Given the description of an element on the screen output the (x, y) to click on. 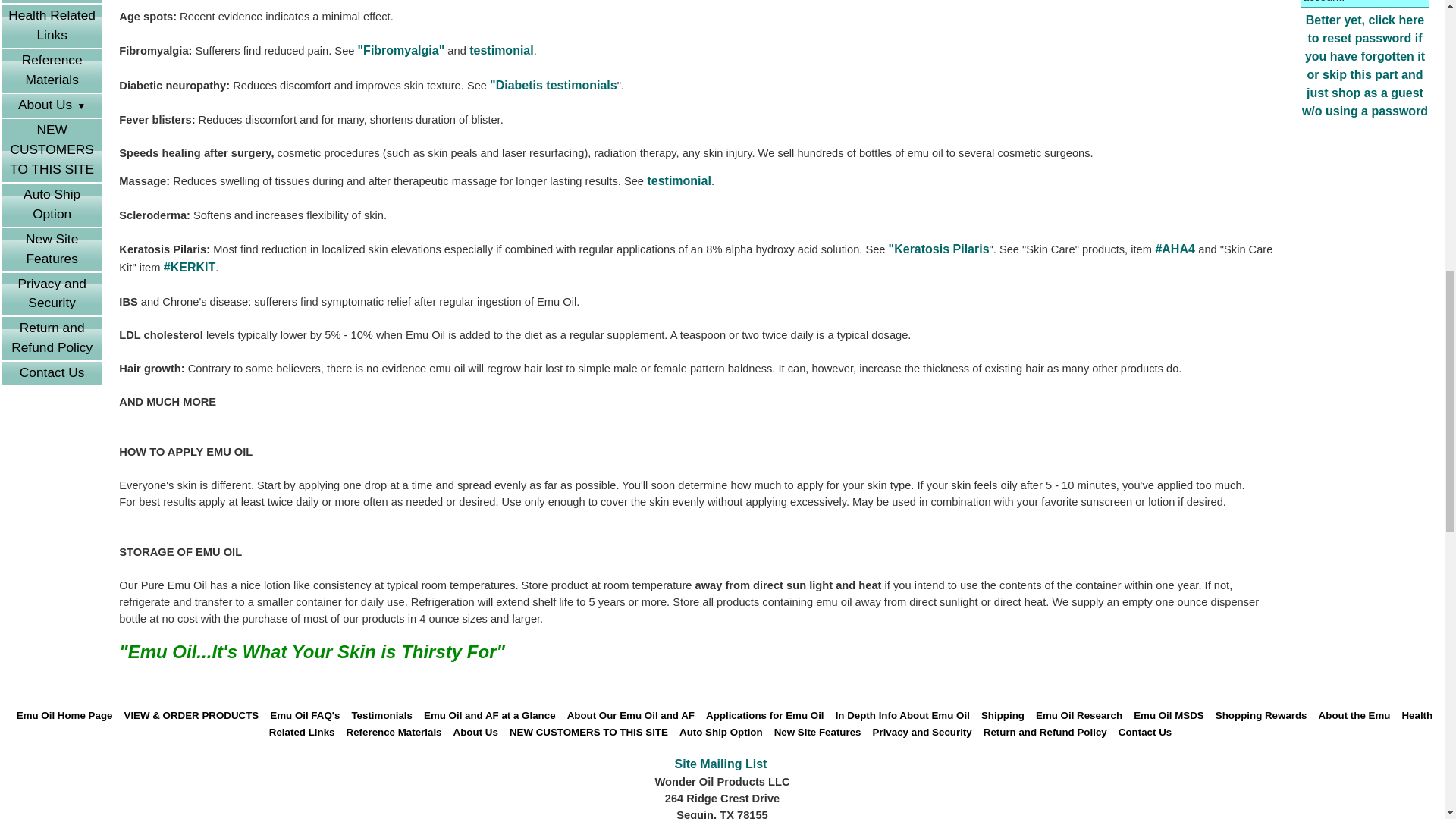
Contact Us (51, 372)
About Us (51, 105)
Auto Ship Option (51, 204)
Return and Refund Policy (51, 338)
New Site Features (51, 249)
Health Related Links (51, 25)
Privacy and Security (51, 294)
NEW CUSTOMERS TO THIS SITE (51, 149)
About the Emu (51, 1)
Reference Materials (51, 70)
